Given the description of an element on the screen output the (x, y) to click on. 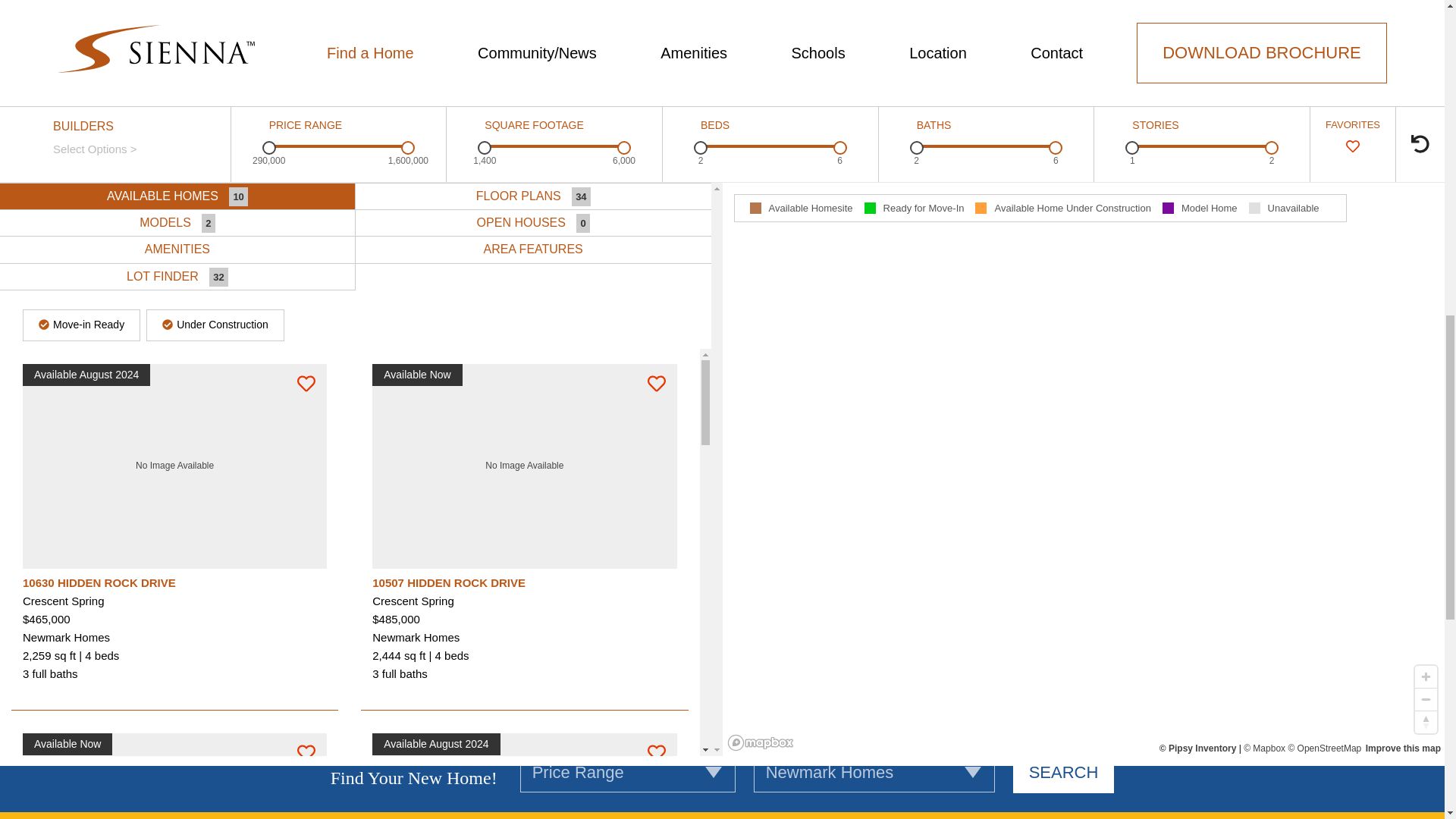
Search (1064, 772)
